Given the description of an element on the screen output the (x, y) to click on. 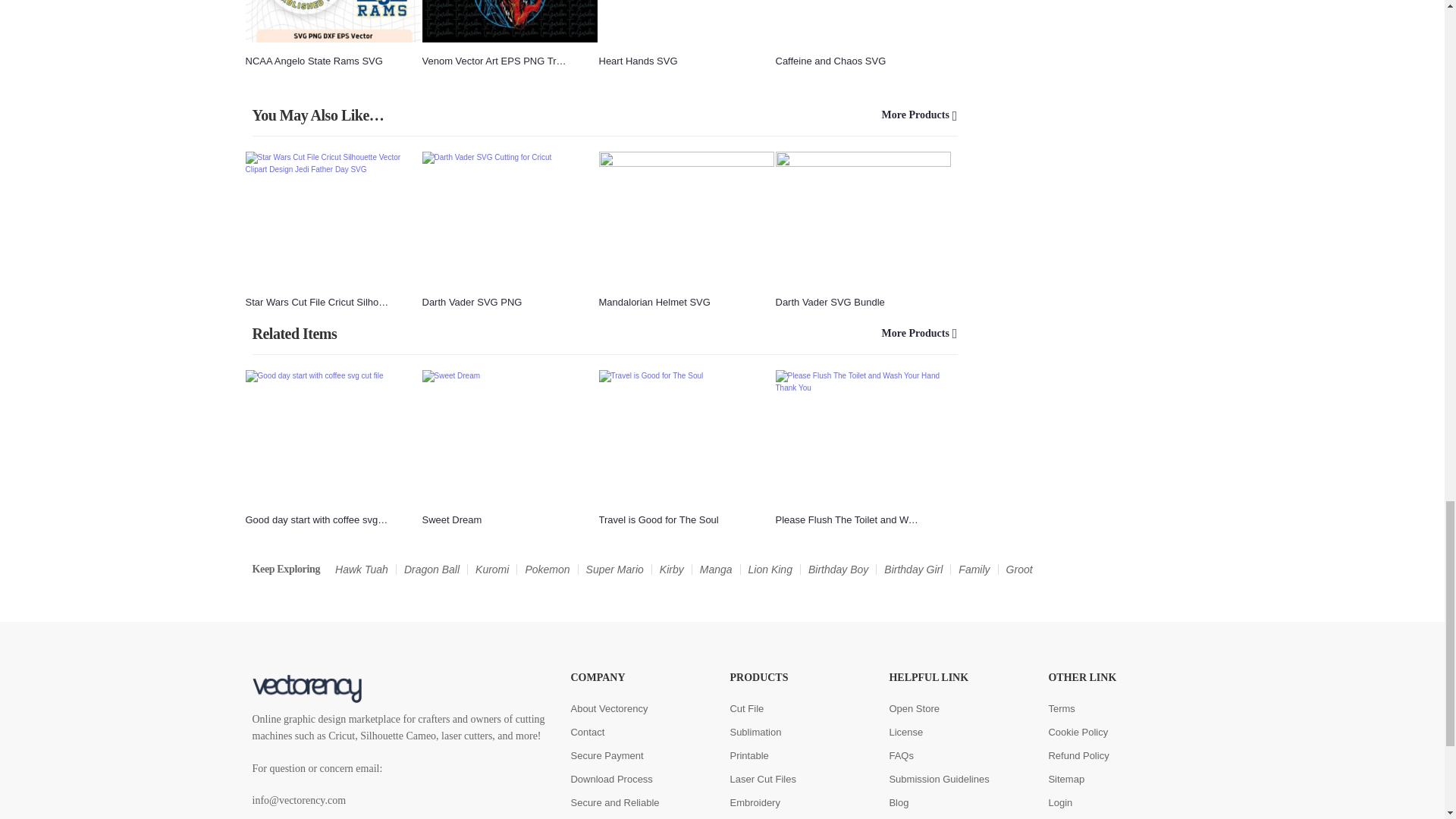
Vectorency - Buy and Sell Design Resources (402, 688)
